Given the description of an element on the screen output the (x, y) to click on. 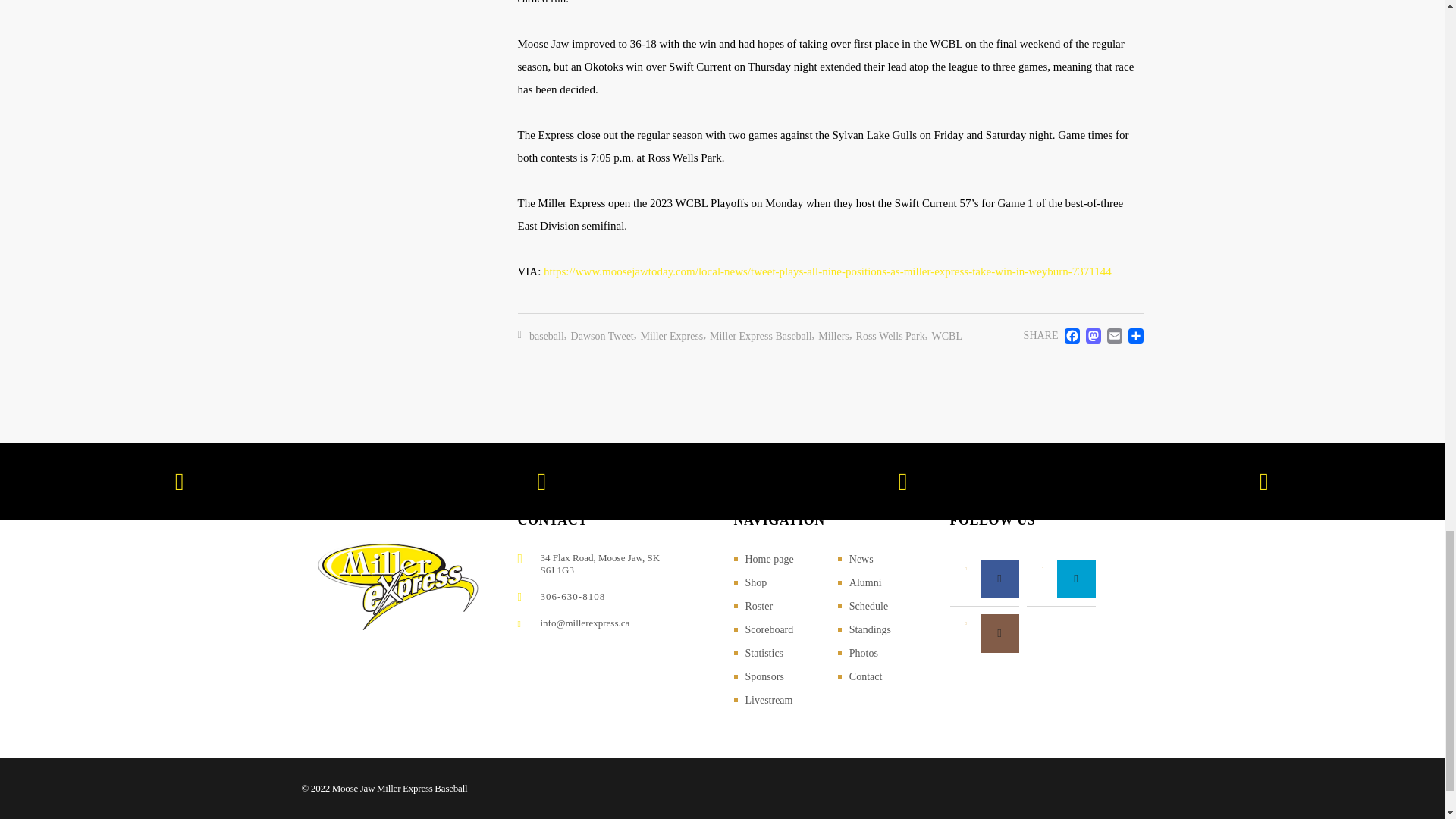
Miller Express Baseball (761, 336)
Facebook (1069, 335)
Mastodon (1090, 335)
baseball (546, 336)
Miller Express (671, 336)
Dawson Tweet (601, 336)
Email (1111, 335)
